Given the description of an element on the screen output the (x, y) to click on. 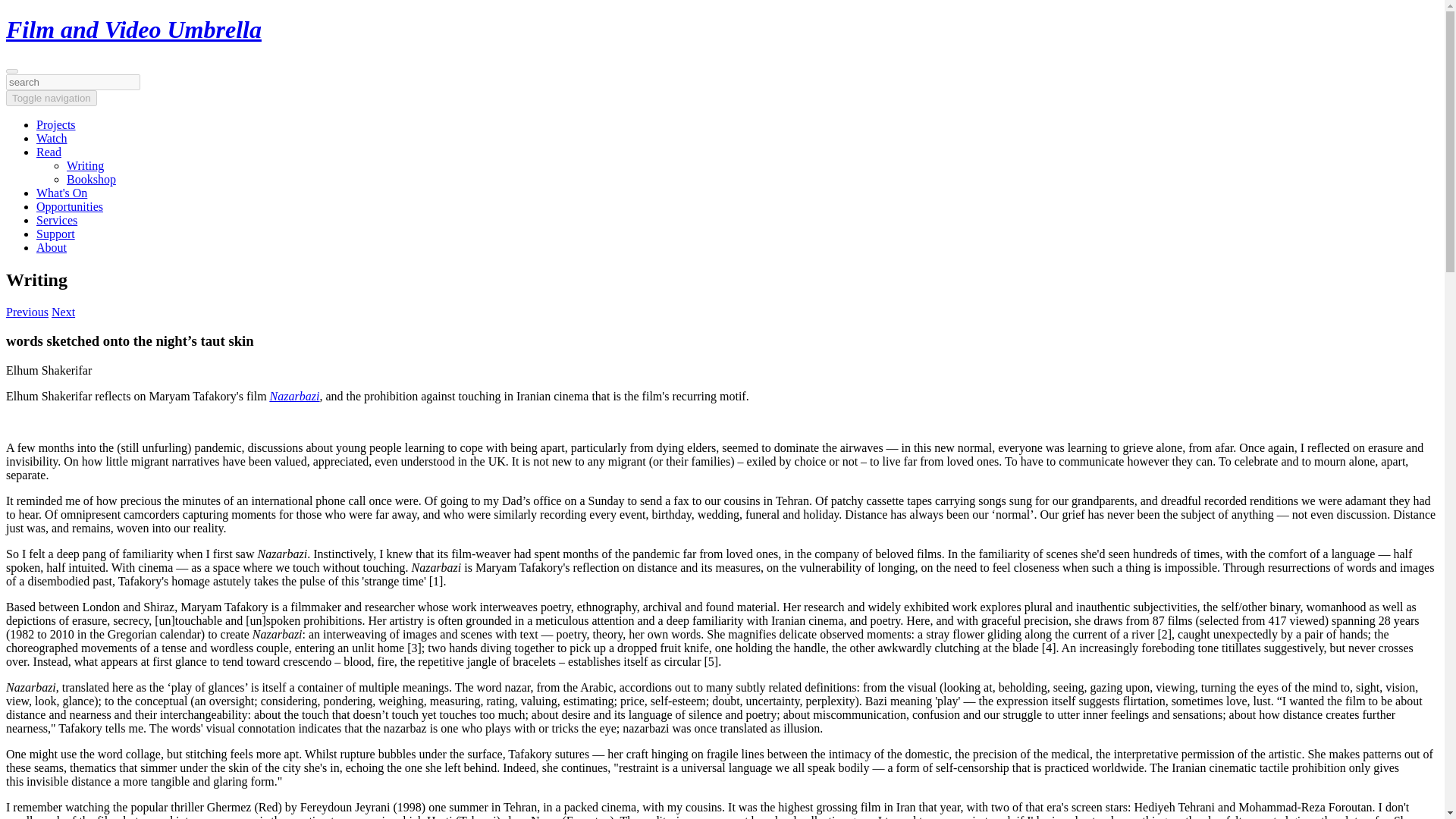
Opportunities (69, 205)
Support (55, 233)
Toggle navigation (51, 98)
Bookshop (91, 178)
Read (48, 151)
Previous (26, 311)
Services (56, 219)
Projects (55, 124)
What's On (61, 192)
Film and Video Umbrella (133, 29)
